Given the description of an element on the screen output the (x, y) to click on. 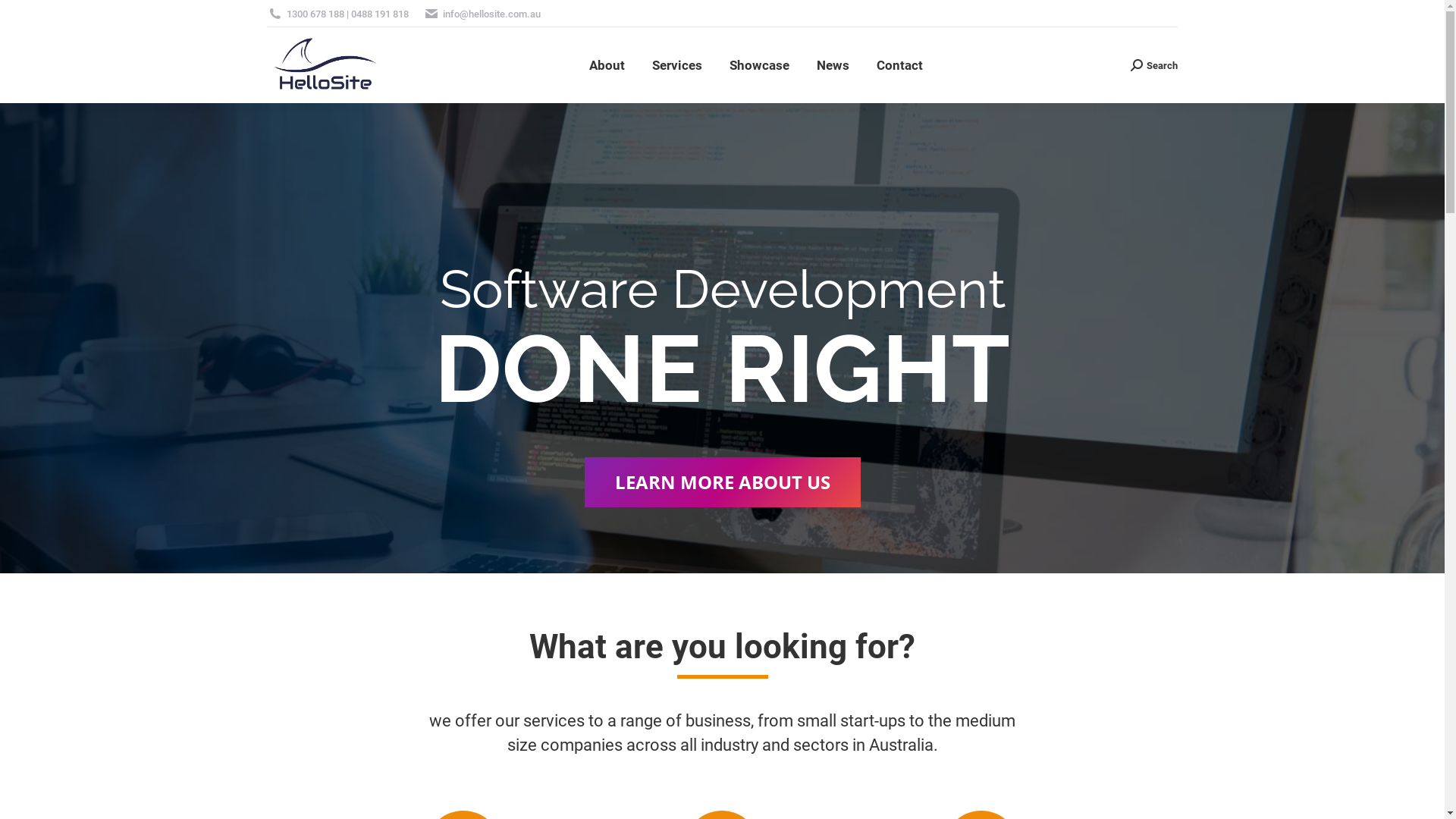
Contact Element type: text (899, 64)
Search Element type: text (1152, 65)
LEARN MORE ABOUT US Element type: text (722, 482)
About Element type: text (606, 64)
Services Element type: text (677, 64)
Showcase Element type: text (759, 64)
News Element type: text (831, 64)
Go! Element type: text (23, 15)
